Given the description of an element on the screen output the (x, y) to click on. 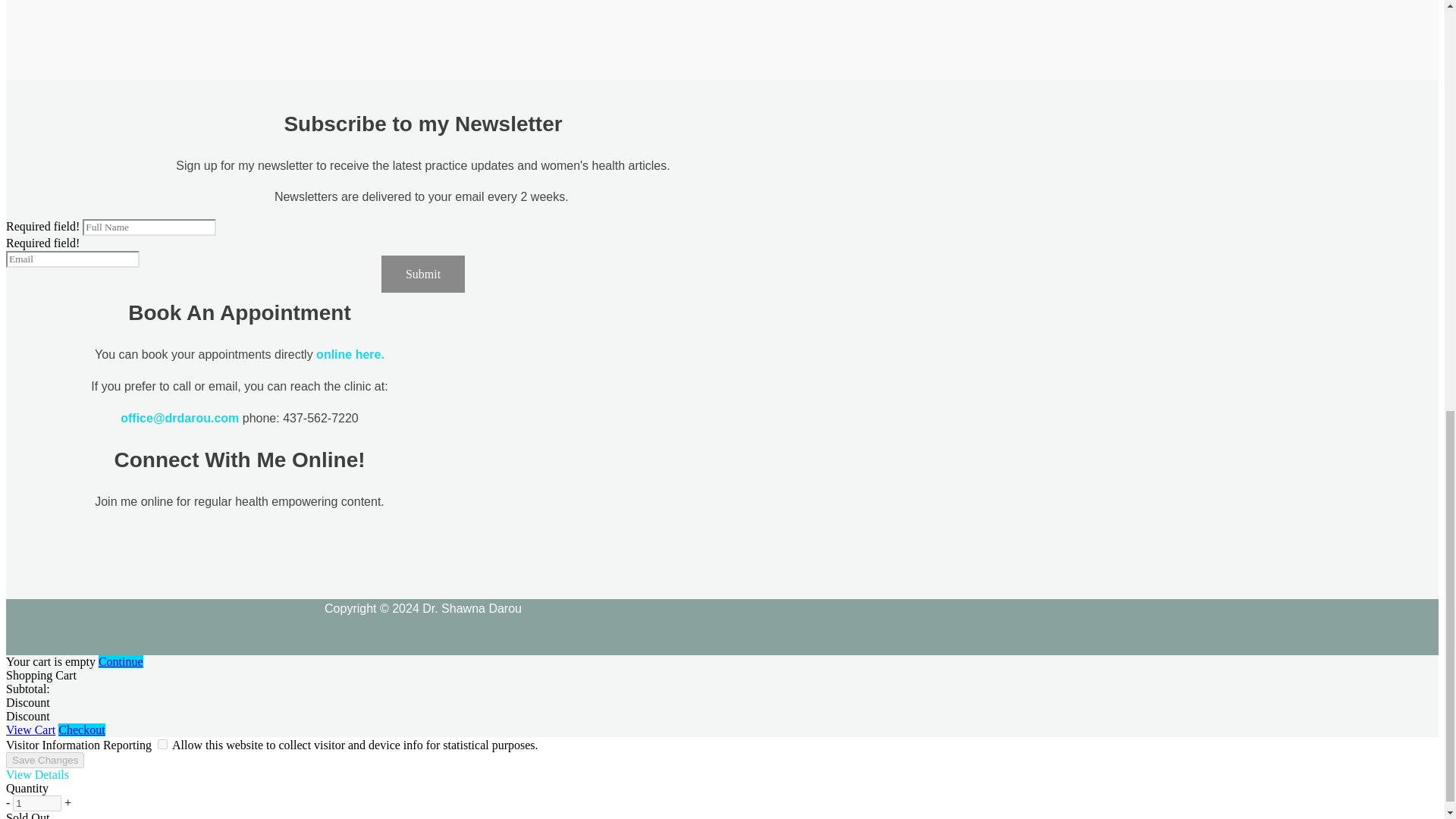
Continue (120, 661)
Submit (422, 273)
on (162, 744)
View Details (36, 774)
Checkout (81, 729)
1 (37, 803)
View Cart (30, 729)
Save Changes (44, 760)
online here. (349, 354)
